Given the description of an element on the screen output the (x, y) to click on. 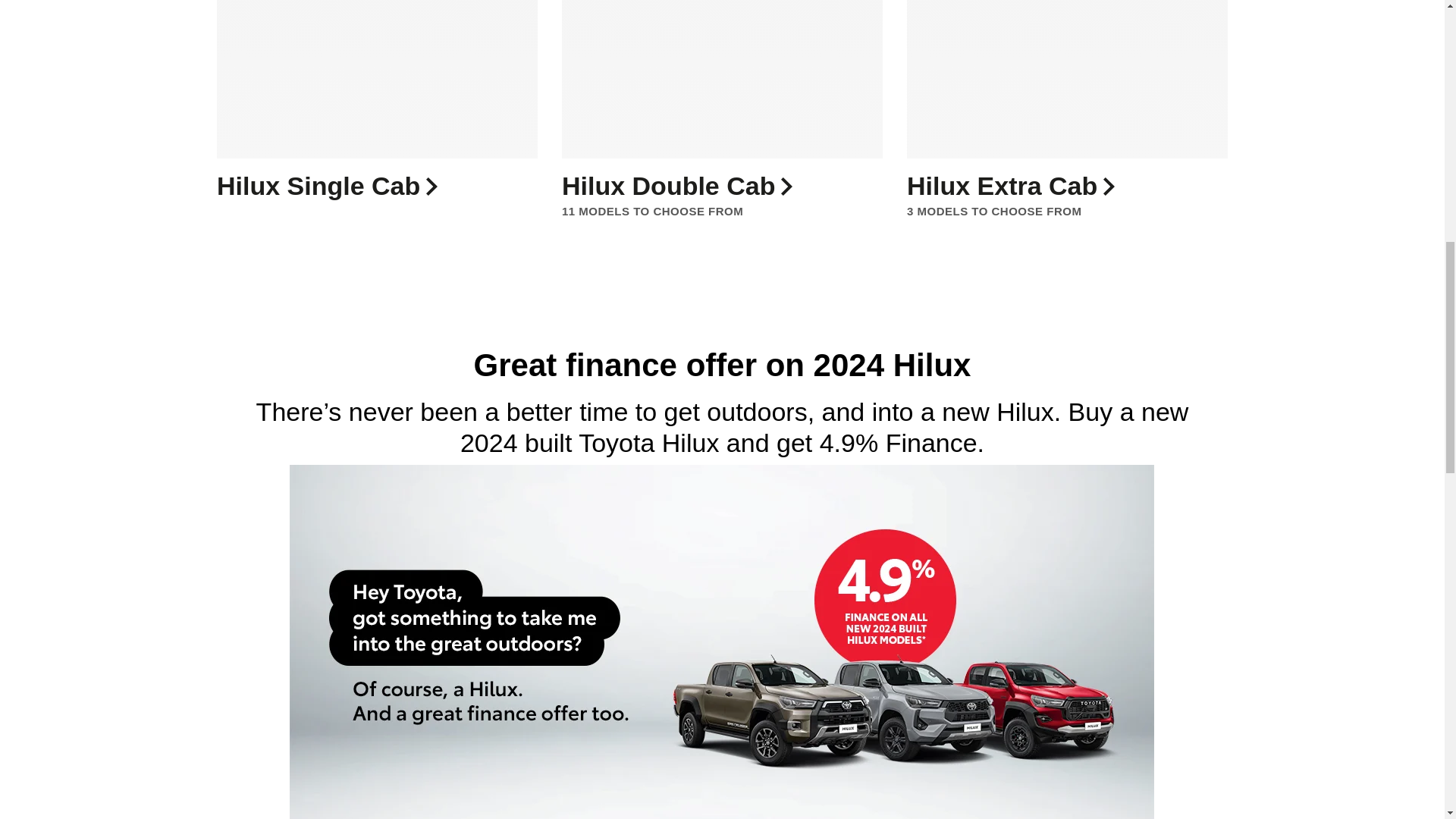
Hilux Double Cab (711, 185)
Hilux Single Cab (365, 185)
Hilux Extra Cab (1056, 185)
